Given the description of an element on the screen output the (x, y) to click on. 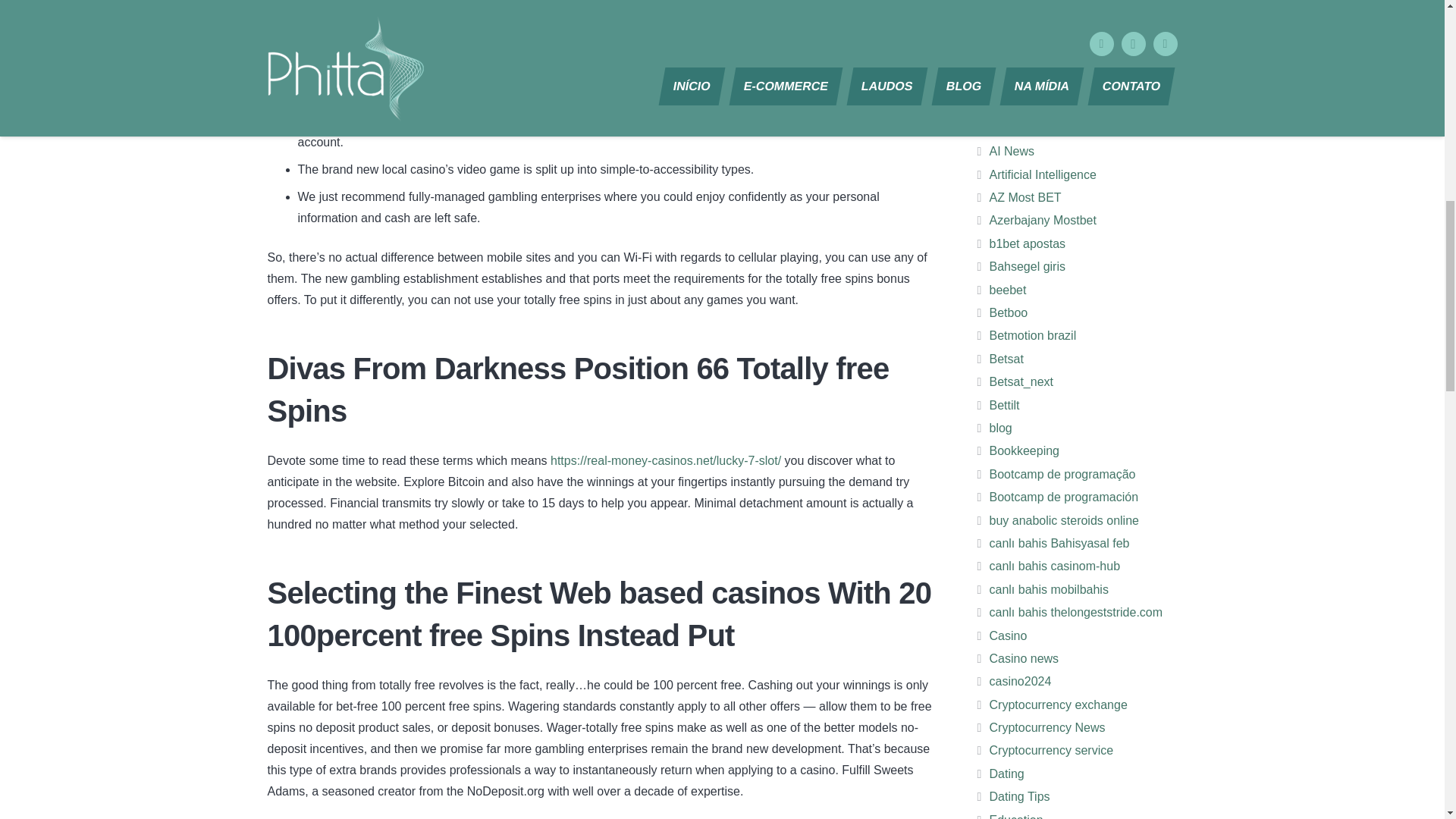
Voltar ao Topo (1413, 30)
